Given the description of an element on the screen output the (x, y) to click on. 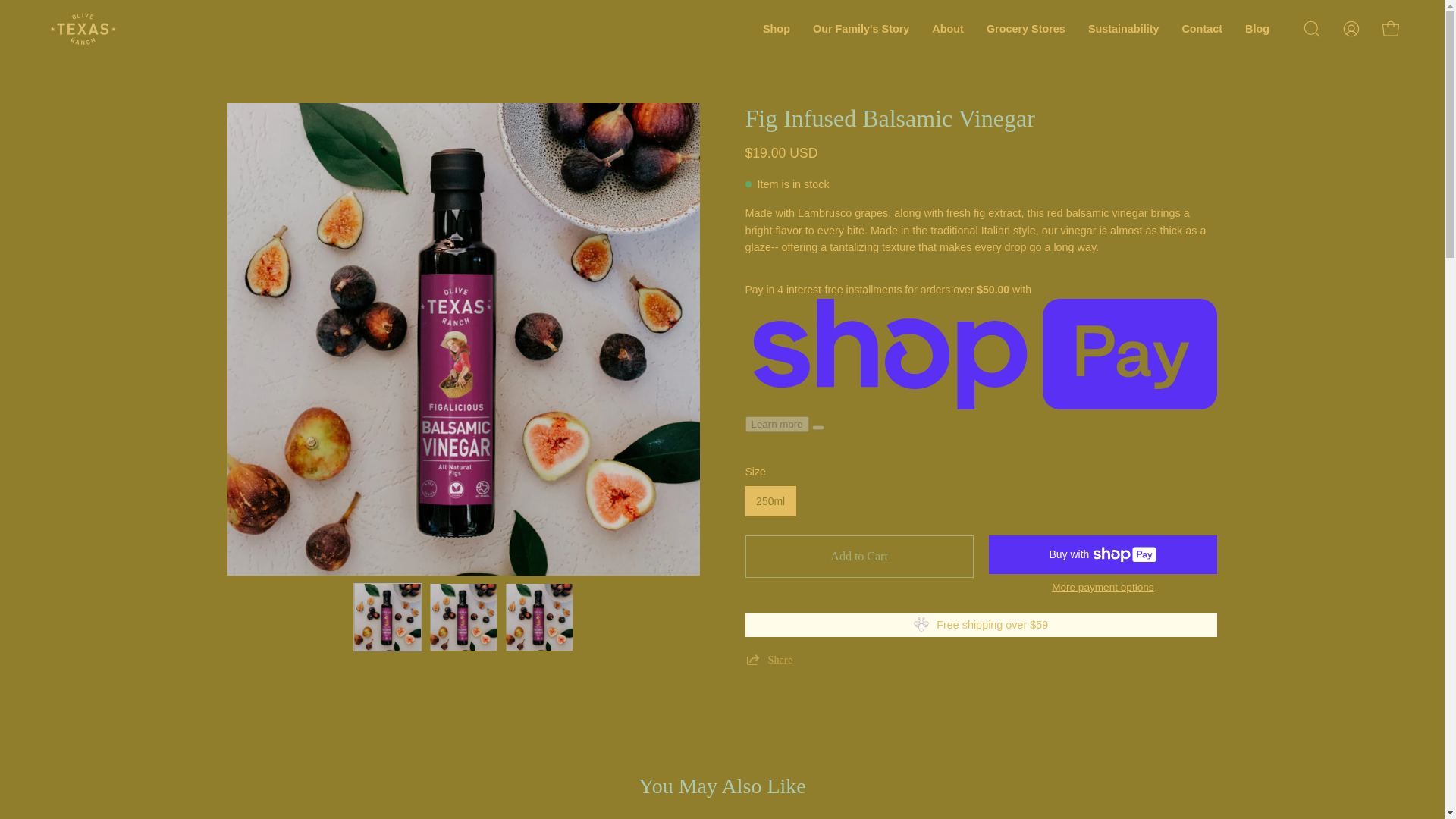
About (947, 28)
Sustainability (1123, 28)
Open search bar (1311, 29)
Contact (1201, 28)
Grocery Stores (1026, 28)
Our Family's Story (861, 28)
